Given the description of an element on the screen output the (x, y) to click on. 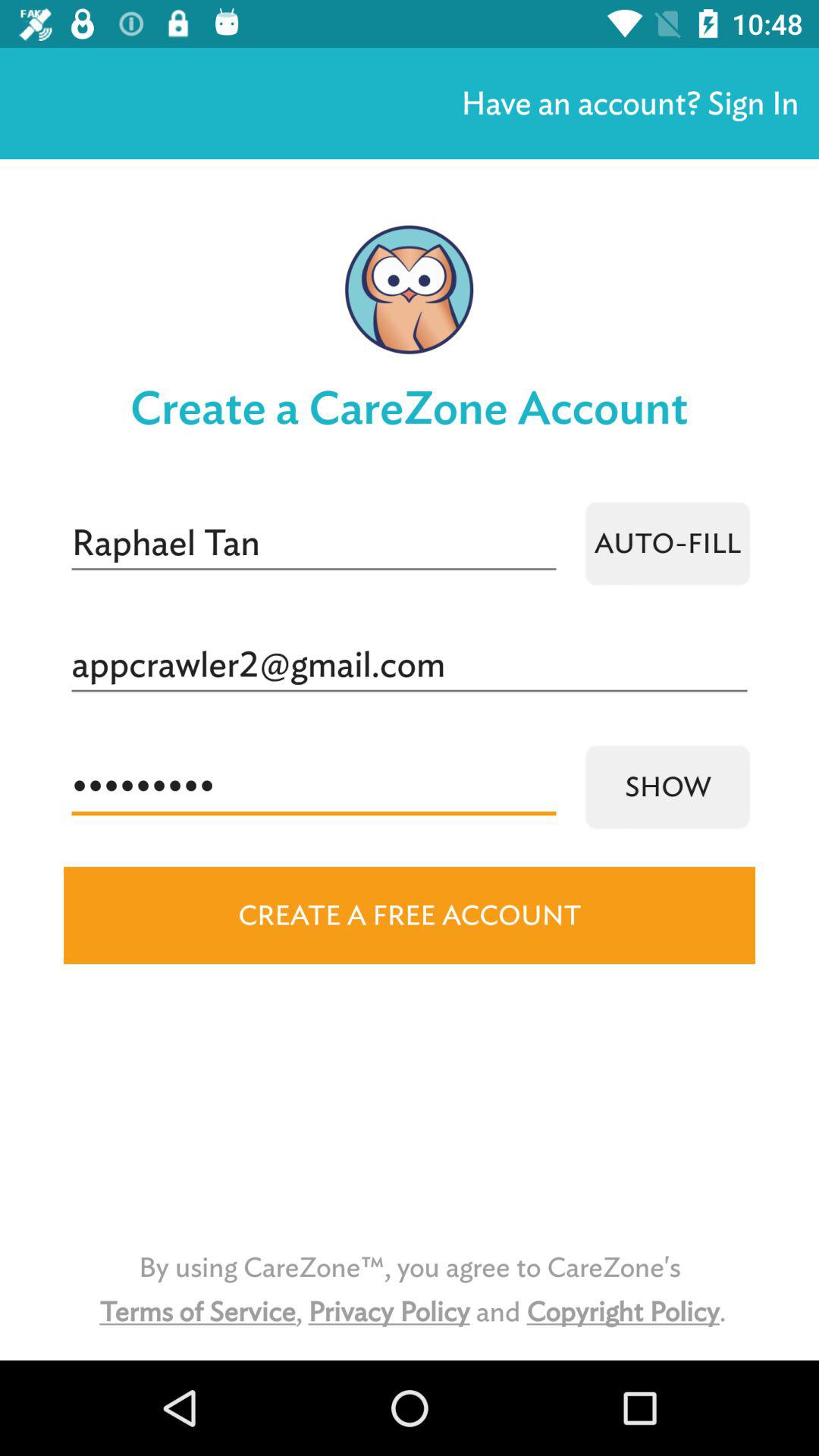
turn off icon below appcrawler2@gmail.com icon (667, 786)
